Given the description of an element on the screen output the (x, y) to click on. 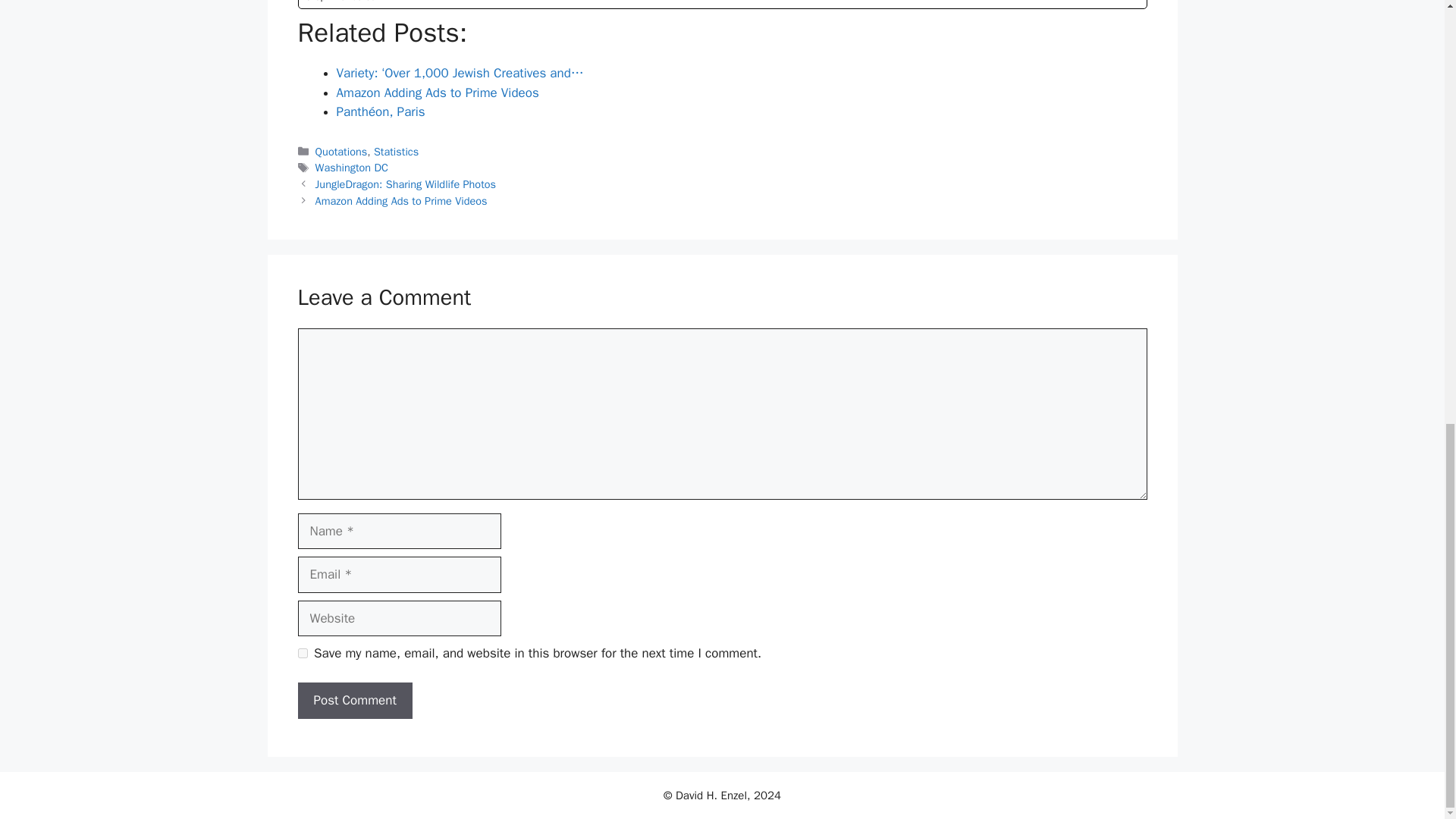
Washington DC (351, 167)
Amazon Adding Ads to Prime Videos (401, 201)
yes (302, 653)
Quotations (341, 151)
Post Comment (354, 700)
JungleDragon: Sharing Wildlife Photos (405, 183)
Statistics (396, 151)
Post Comment (354, 700)
Amazon Adding Ads to Prime Videos (437, 92)
